Given the description of an element on the screen output the (x, y) to click on. 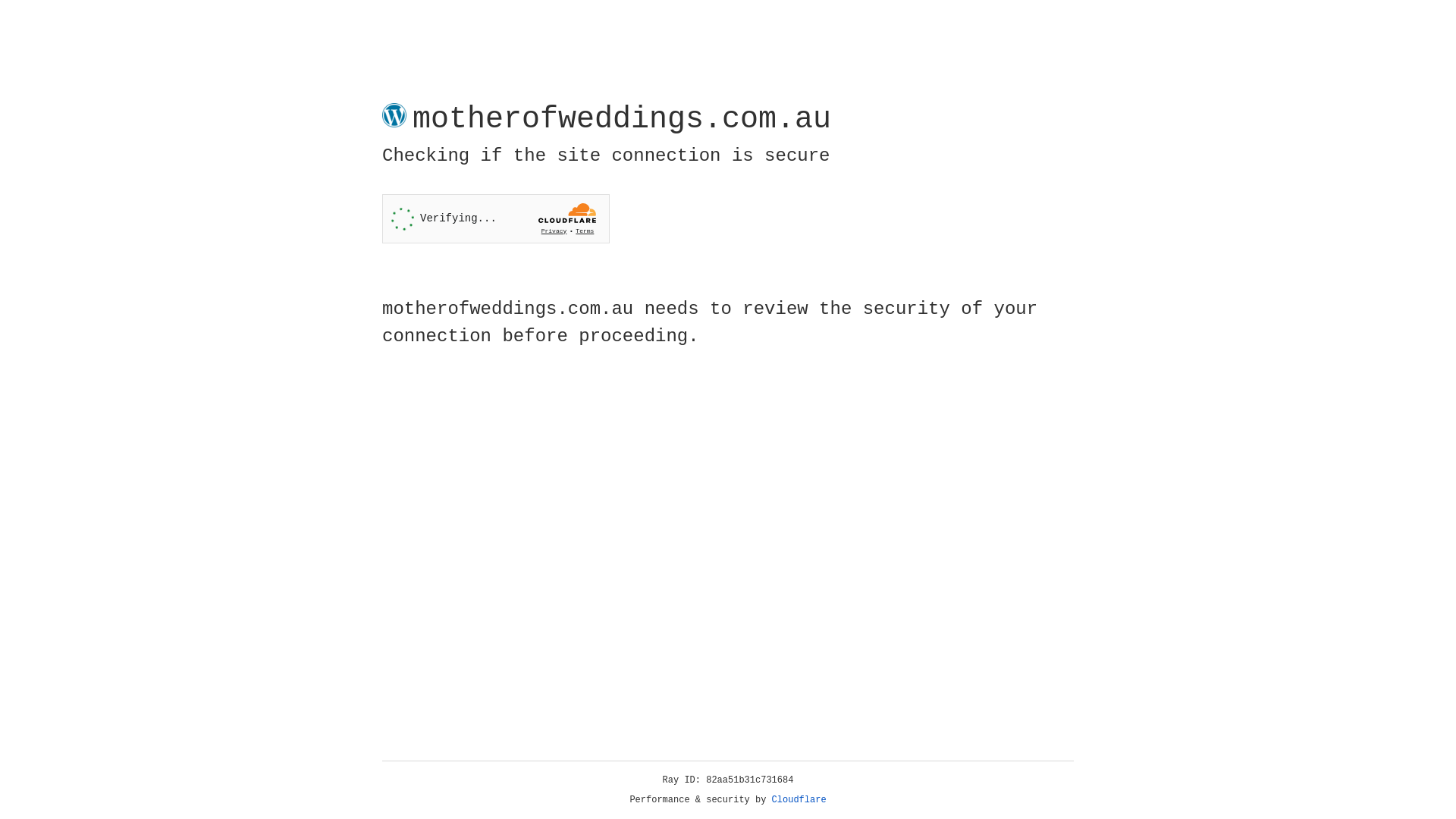
Widget containing a Cloudflare security challenge Element type: hover (495, 218)
Cloudflare Element type: text (798, 799)
